Given the description of an element on the screen output the (x, y) to click on. 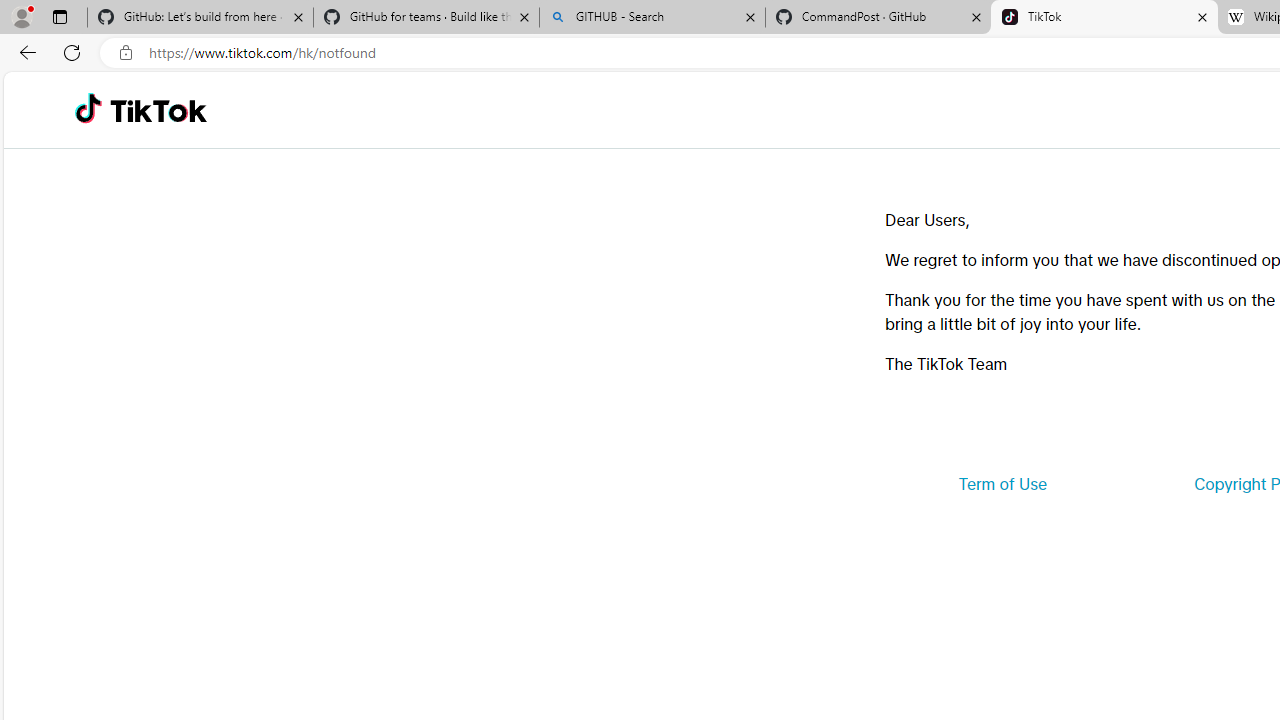
Term of Use (1002, 484)
TikTok (1104, 17)
TikTok (158, 110)
GITHUB - Search (652, 17)
